Given the description of an element on the screen output the (x, y) to click on. 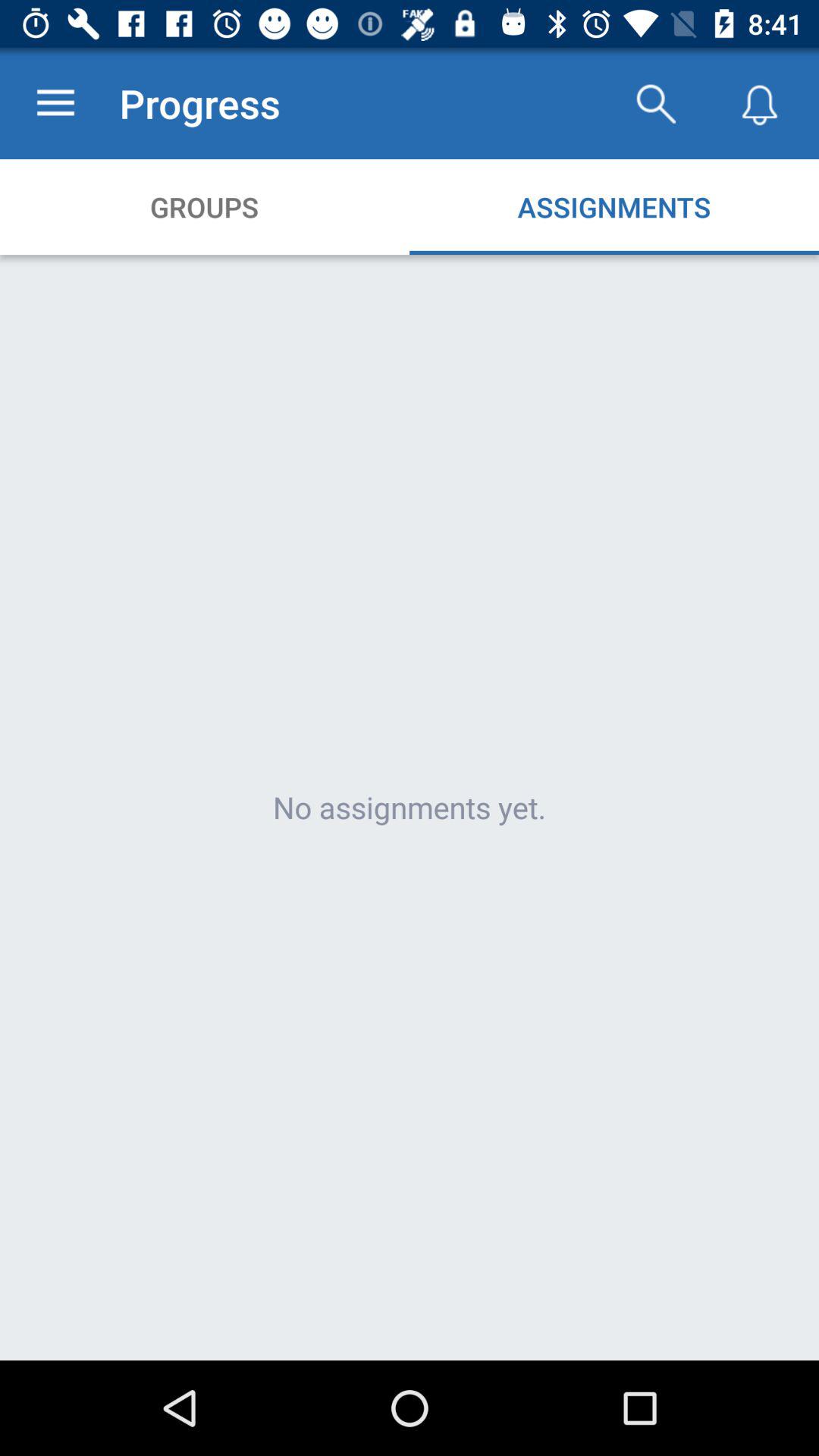
open app next to progress item (55, 103)
